Given the description of an element on the screen output the (x, y) to click on. 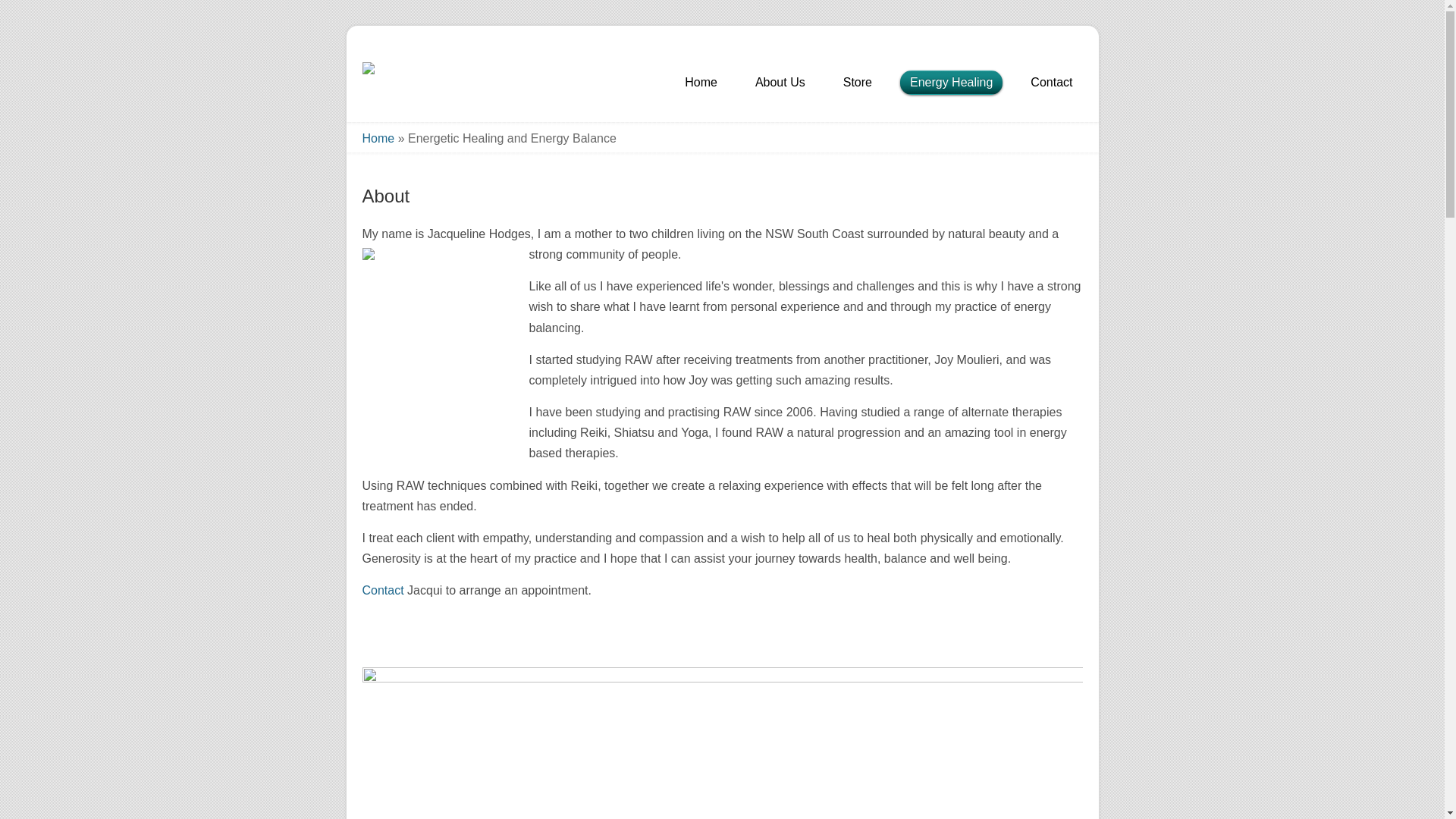
Contact Element type: text (383, 589)
Home Element type: text (700, 83)
Store Element type: text (857, 83)
Home Element type: text (378, 137)
About Us Element type: text (780, 83)
Contact Element type: text (1051, 83)
Energy Healing Element type: text (951, 83)
